Given the description of an element on the screen output the (x, y) to click on. 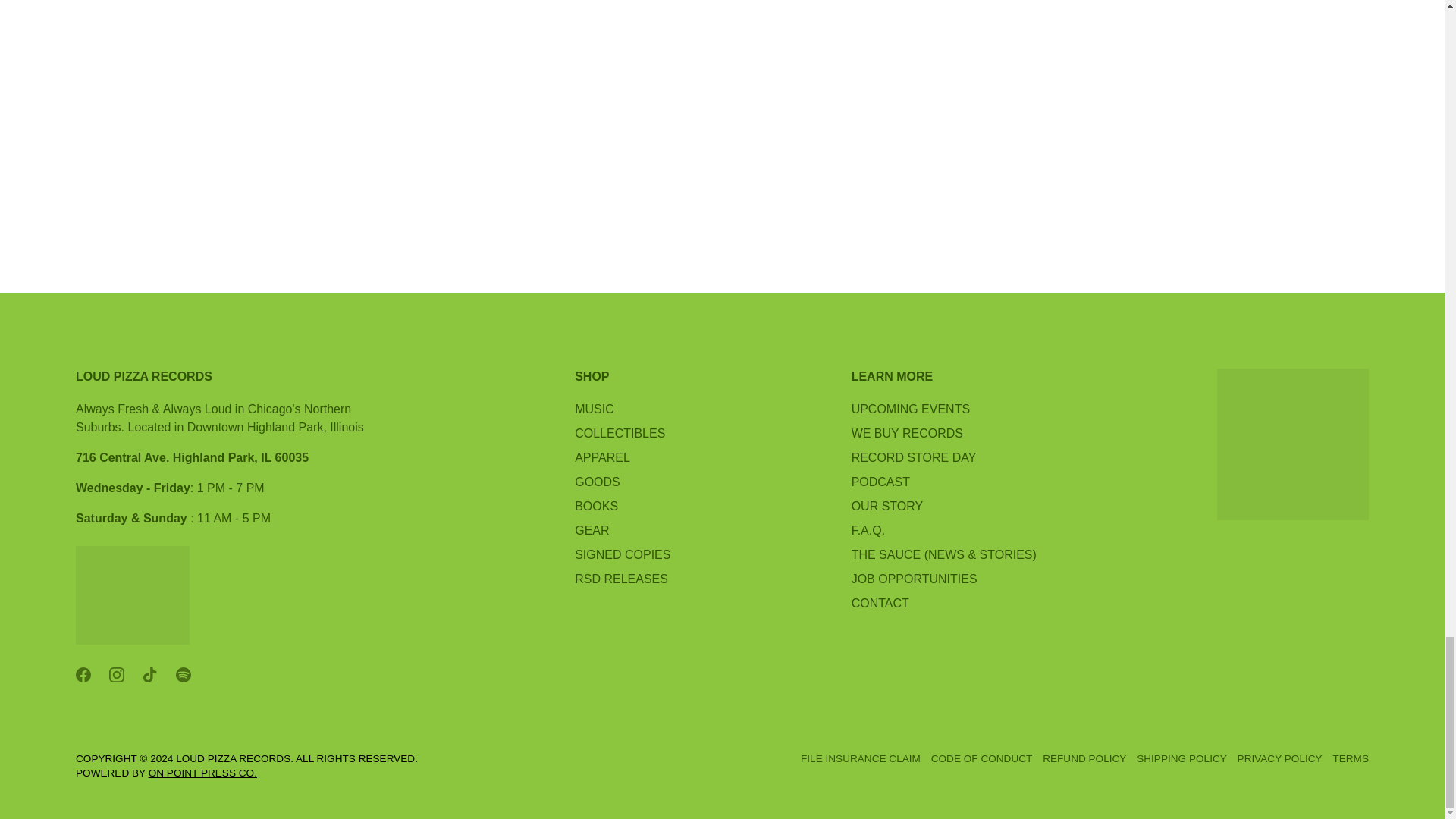
Instagram (116, 674)
